Given the description of an element on the screen output the (x, y) to click on. 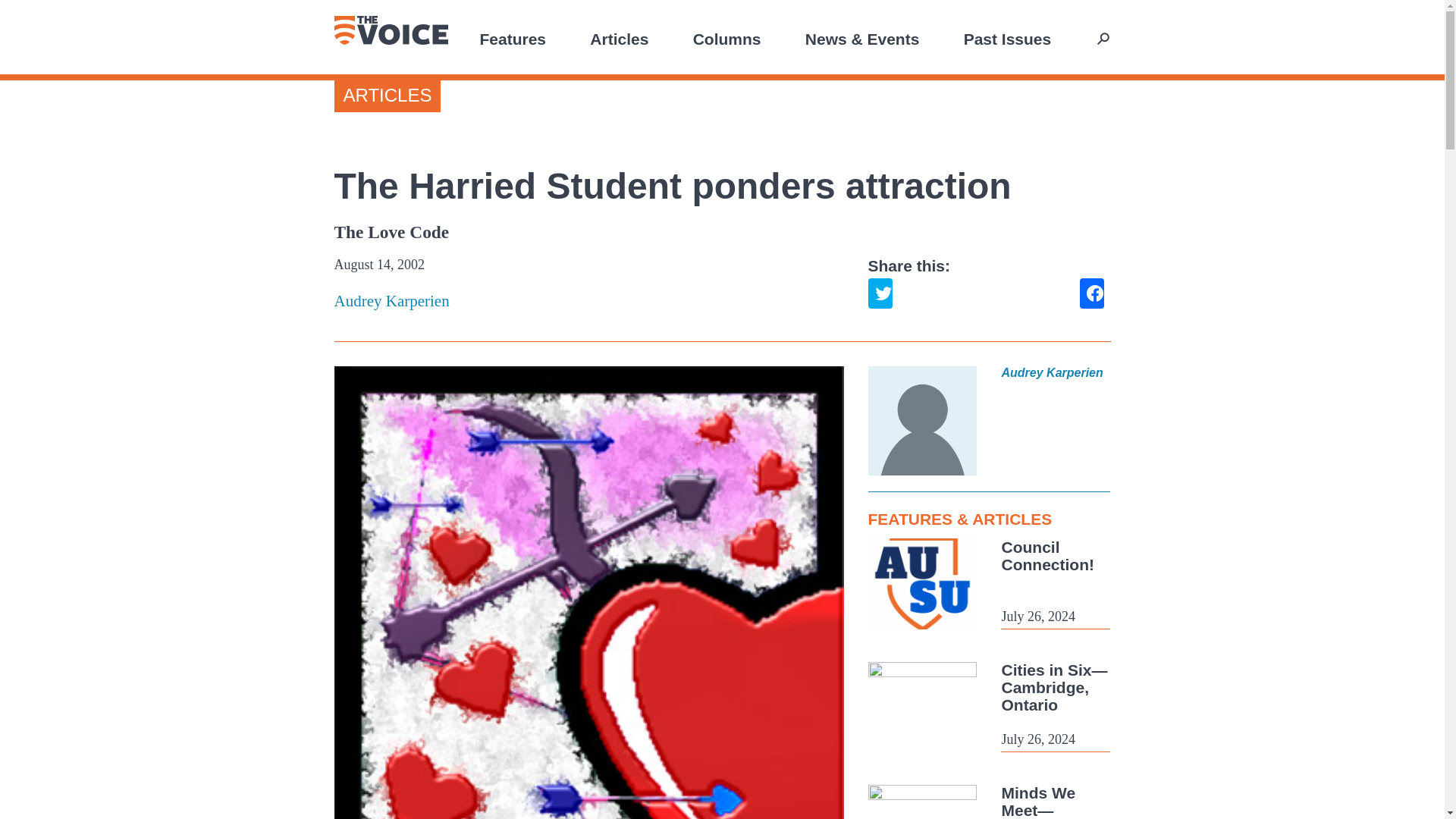
The Voice (389, 30)
ARTICLES (386, 95)
Search (1101, 38)
Past Issues (1007, 38)
Articles (618, 38)
Features (512, 38)
Click to share on Twitter (879, 293)
Council Connection! (1047, 555)
Council Connection! (1047, 555)
Audrey Karperien (588, 301)
Click to share on Facebook (1091, 293)
Columns (727, 38)
Posts by Audrey Karperien (588, 301)
